Given the description of an element on the screen output the (x, y) to click on. 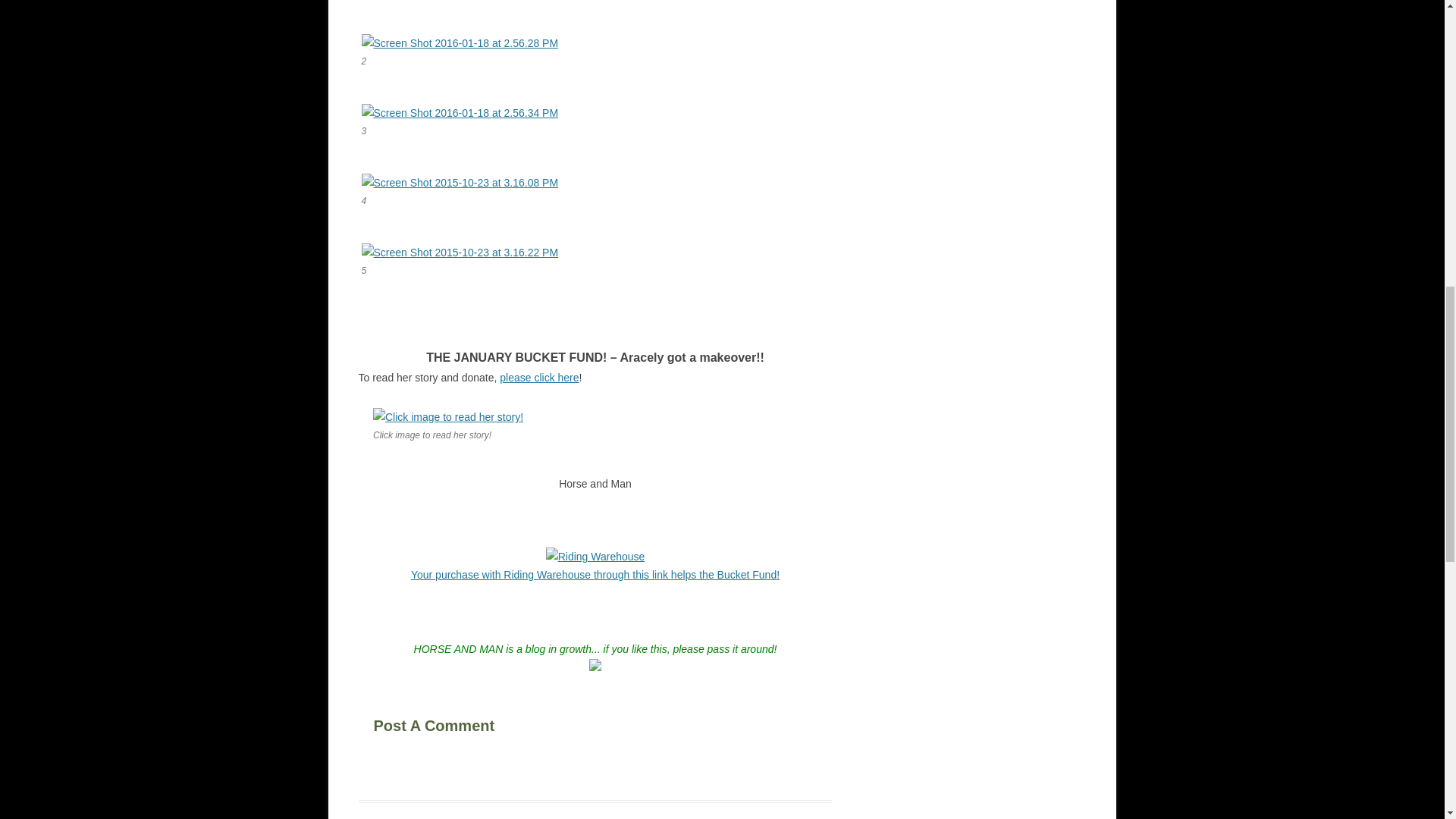
please click here (538, 377)
Help The Bucket Fund with your purchase! (594, 574)
Help The Bucket Fund with your purchase! (595, 556)
Post A Comment (465, 722)
